Given the description of an element on the screen output the (x, y) to click on. 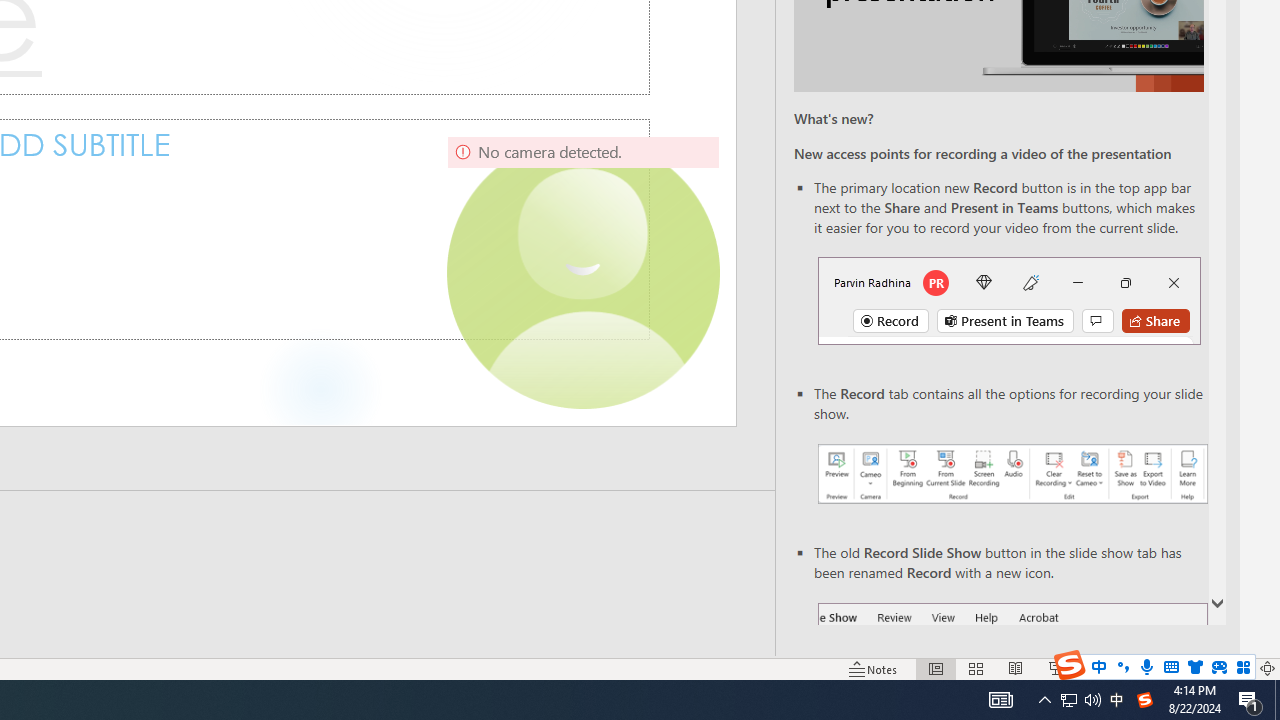
Record button in top bar (1008, 300)
Zoom 129% (1234, 668)
Record your presentations screenshot one (1012, 473)
